Given the description of an element on the screen output the (x, y) to click on. 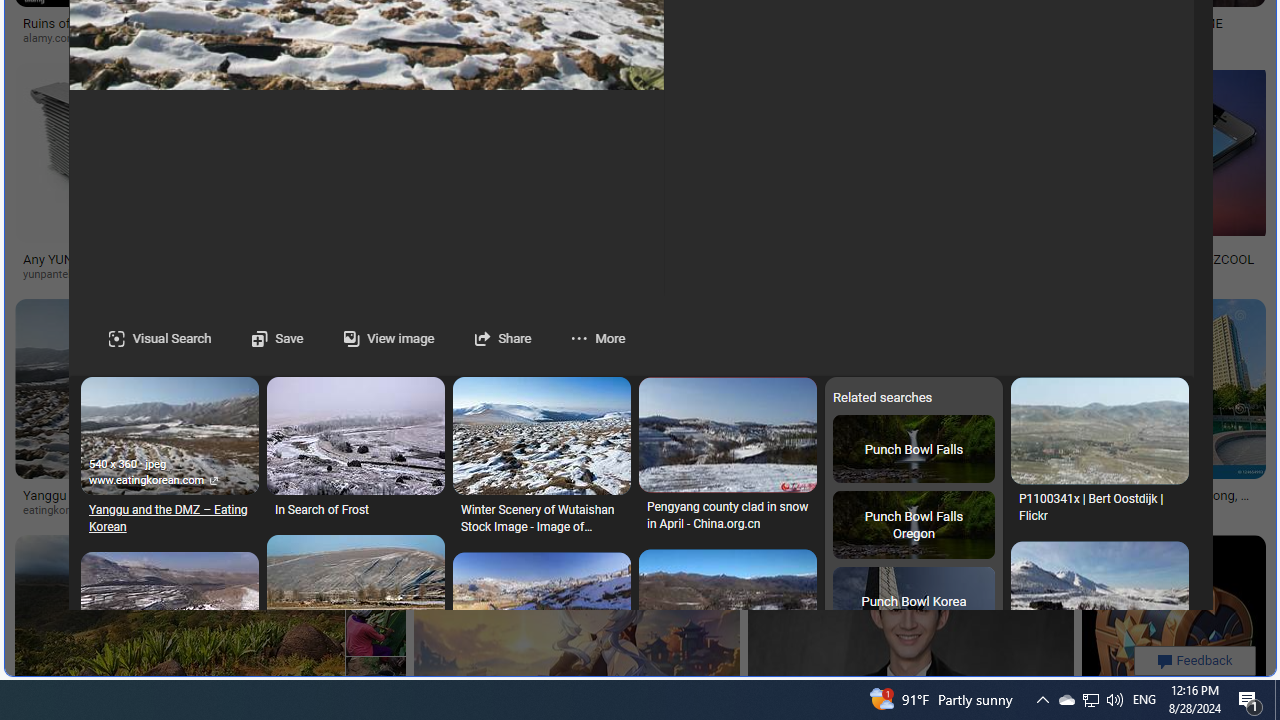
Share (502, 338)
View image (387, 338)
Image result for guge yunpan (1173, 625)
expedia.es (656, 37)
View image (367, 338)
Pengyang county clad in snow in April - China.org.cn (726, 516)
